Given the description of an element on the screen output the (x, y) to click on. 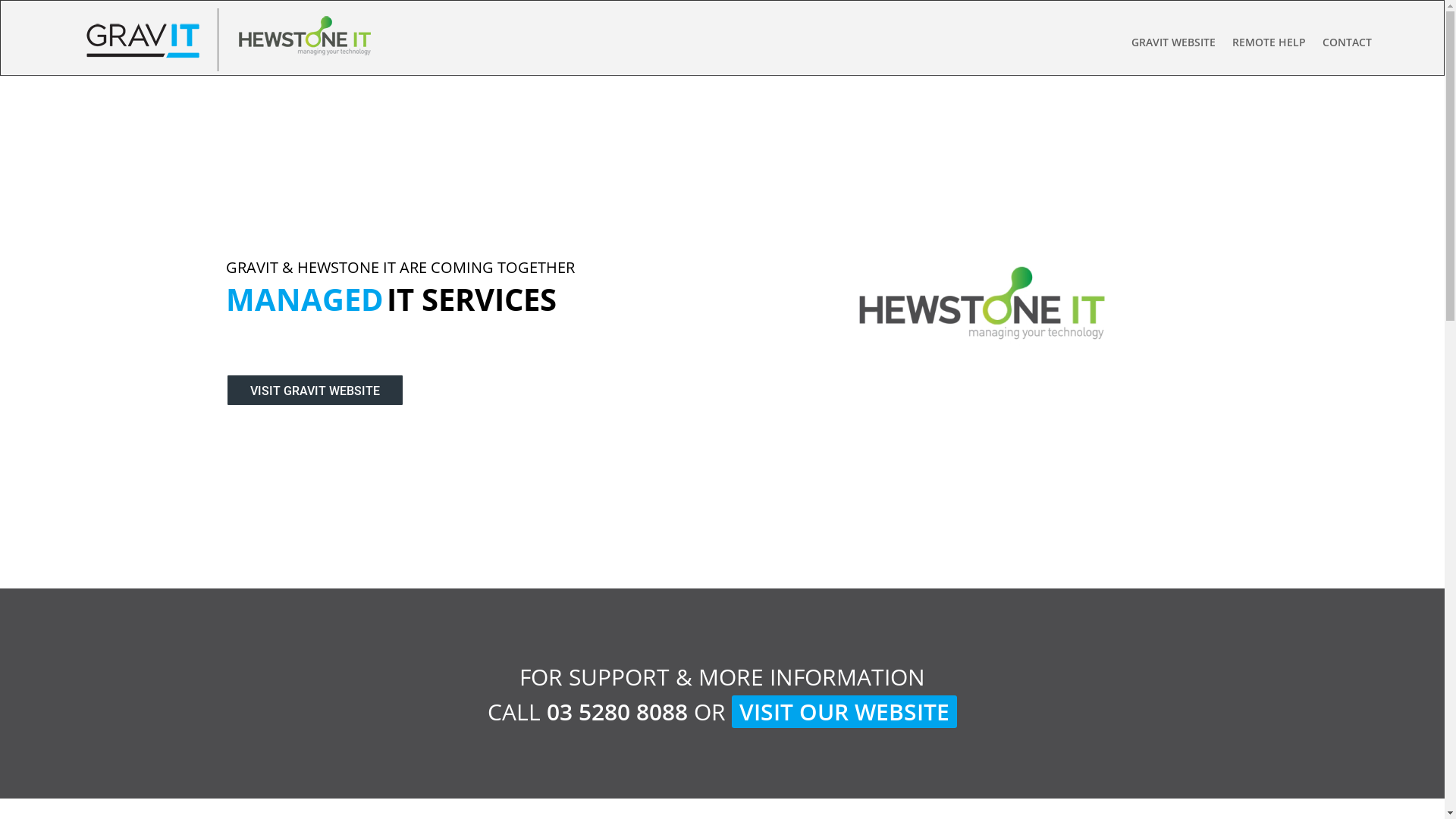
Combined-Logo400 Element type: hover (229, 39)
VISIT GRAVIT WEBSITE Element type: text (314, 389)
03 5280 8088 Element type: text (616, 711)
VISIT OUR WEBSITE Element type: text (844, 711)
GRAVIT WEBSITE Element type: text (1173, 45)
REMOTE HELP Element type: text (1268, 45)
CONTACT Element type: text (1346, 45)
